Given the description of an element on the screen output the (x, y) to click on. 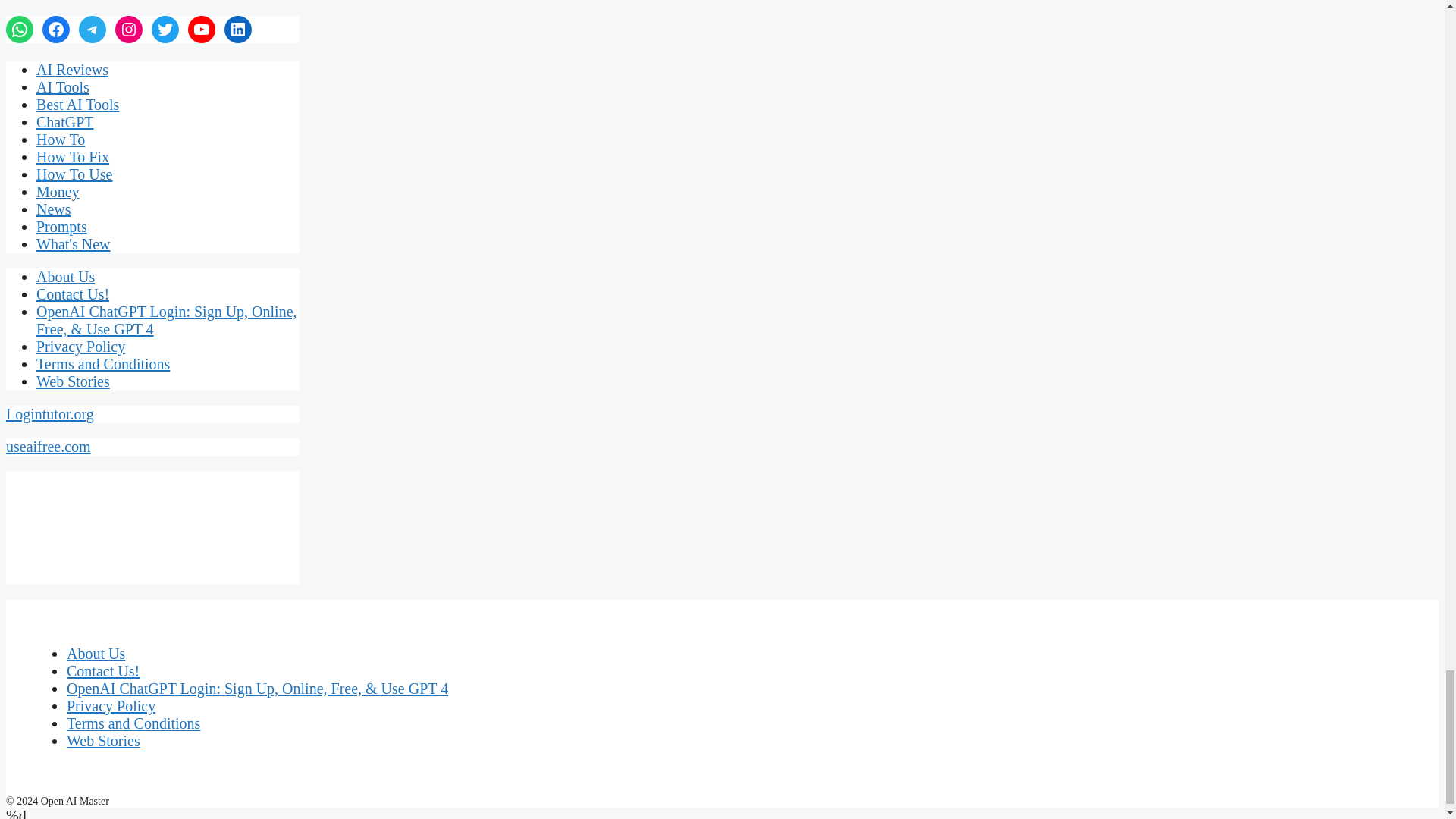
WhatsApp (19, 29)
Facebook (55, 29)
Telegram (92, 29)
